Given the description of an element on the screen output the (x, y) to click on. 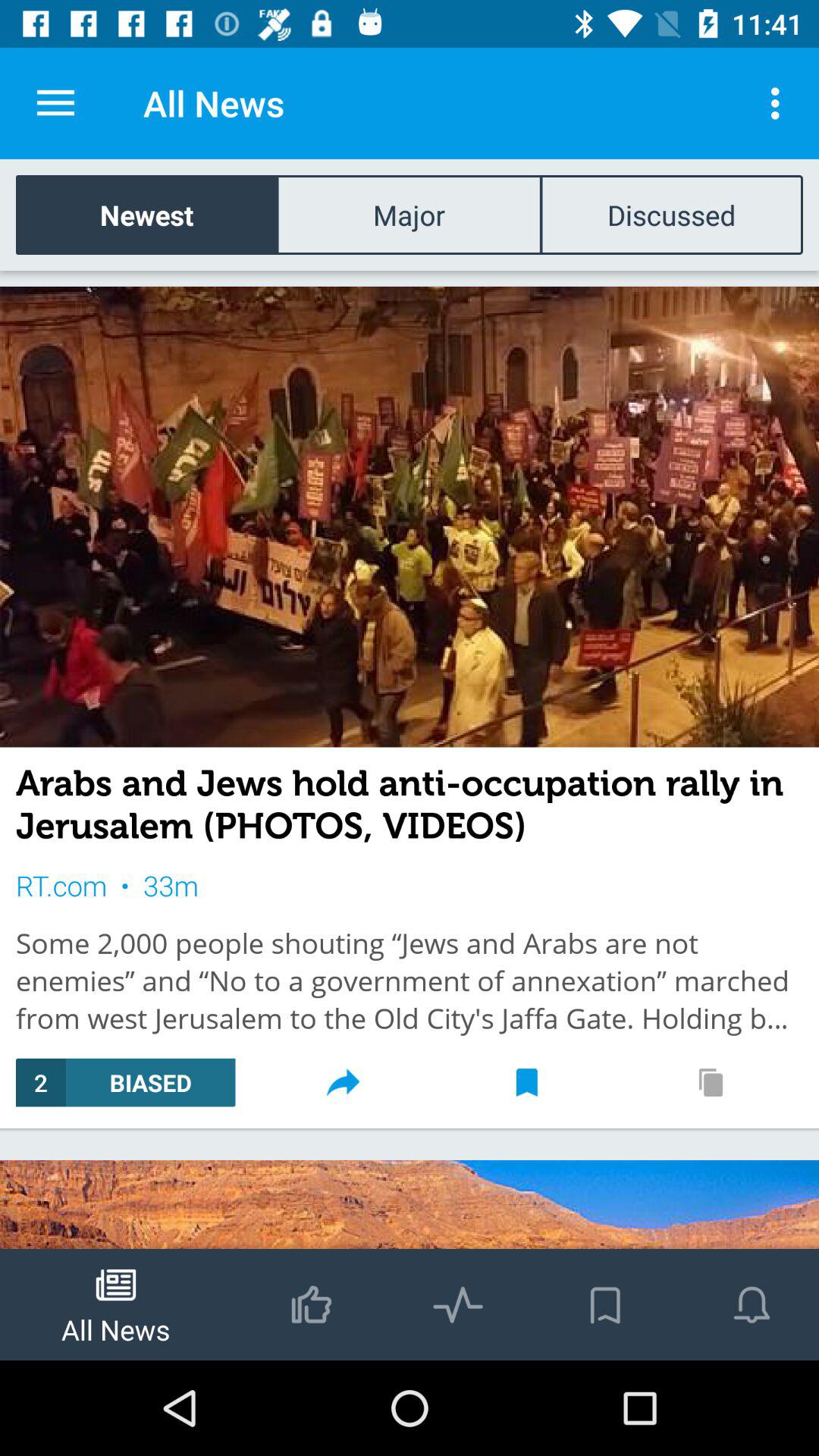
turn on item next to newest icon (409, 214)
